Given the description of an element on the screen output the (x, y) to click on. 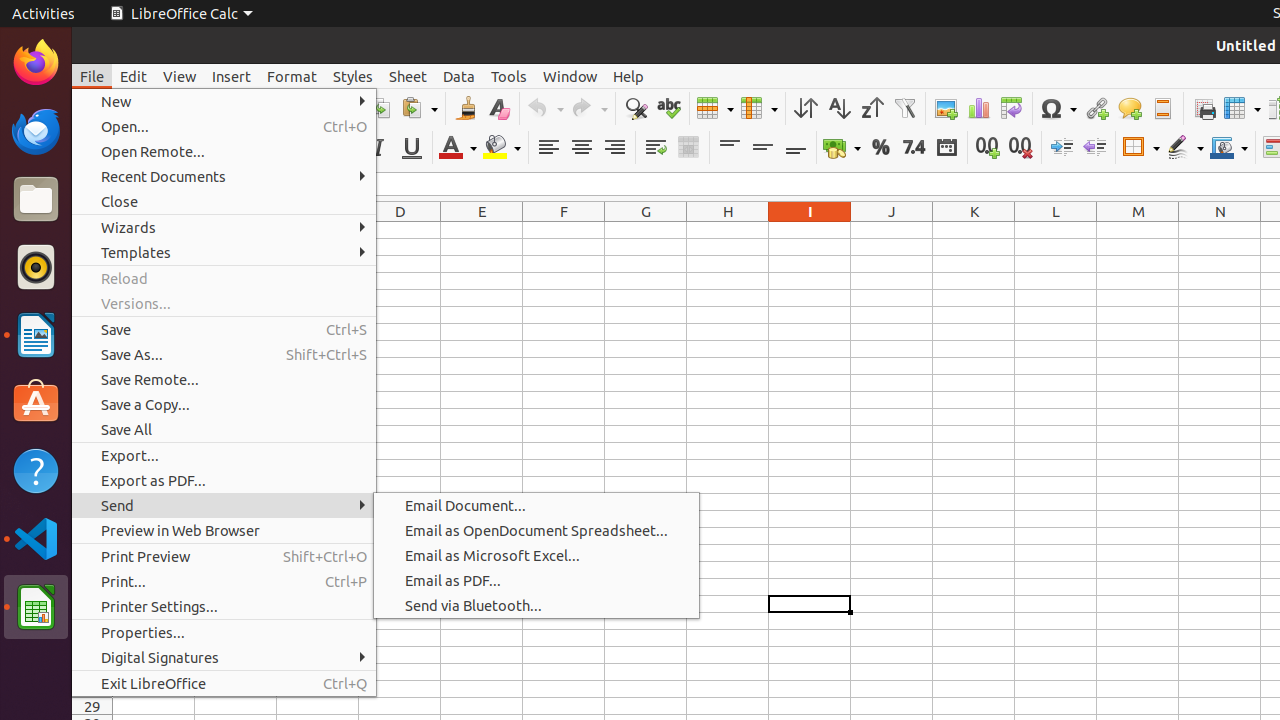
M1 Element type: table-cell (1138, 230)
Export as PDF... Element type: menu-item (224, 480)
File Element type: menu (92, 76)
Underline Element type: push-button (411, 147)
N1 Element type: table-cell (1220, 230)
